Given the description of an element on the screen output the (x, y) to click on. 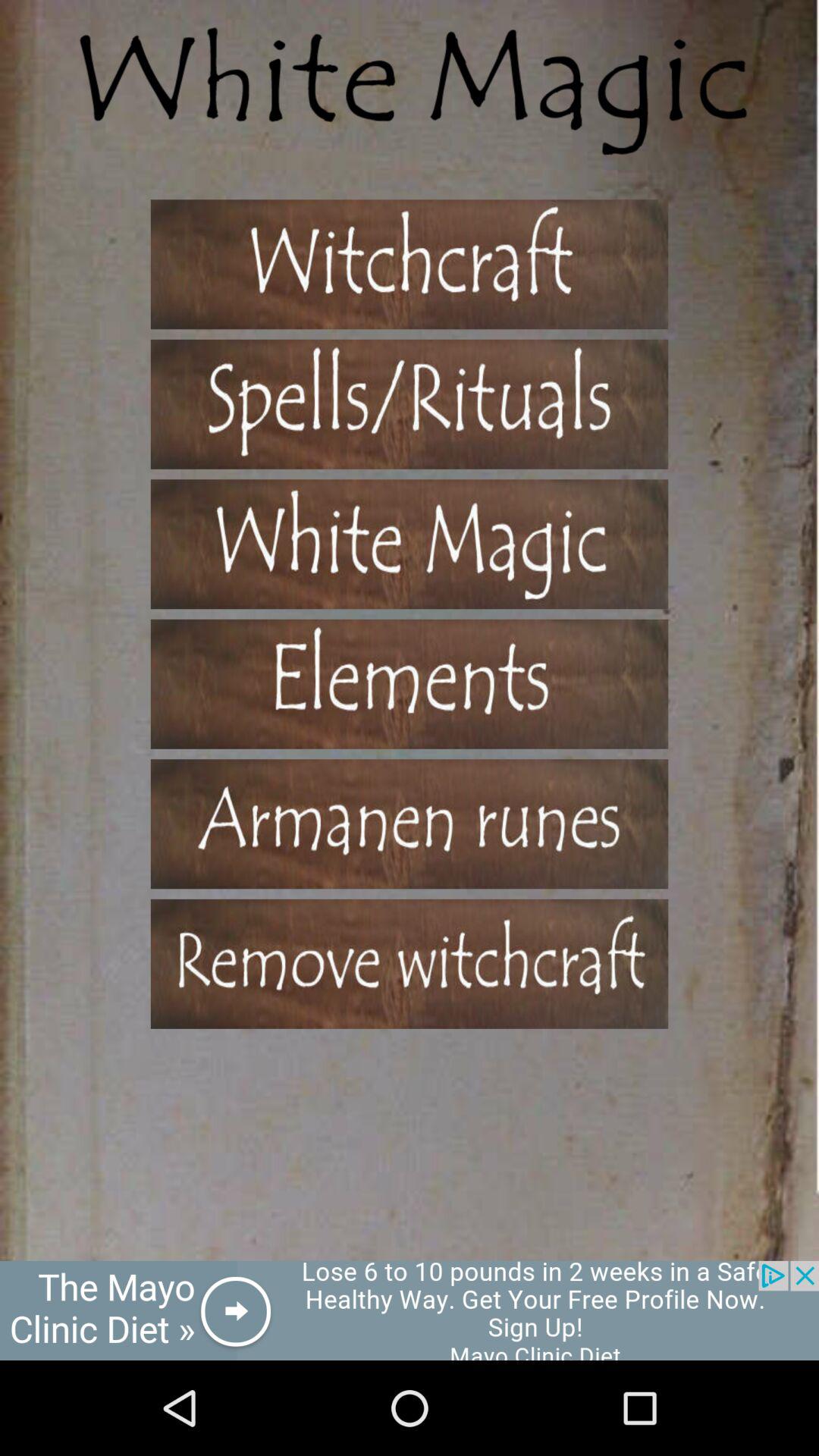
see advertisement (409, 1310)
